Given the description of an element on the screen output the (x, y) to click on. 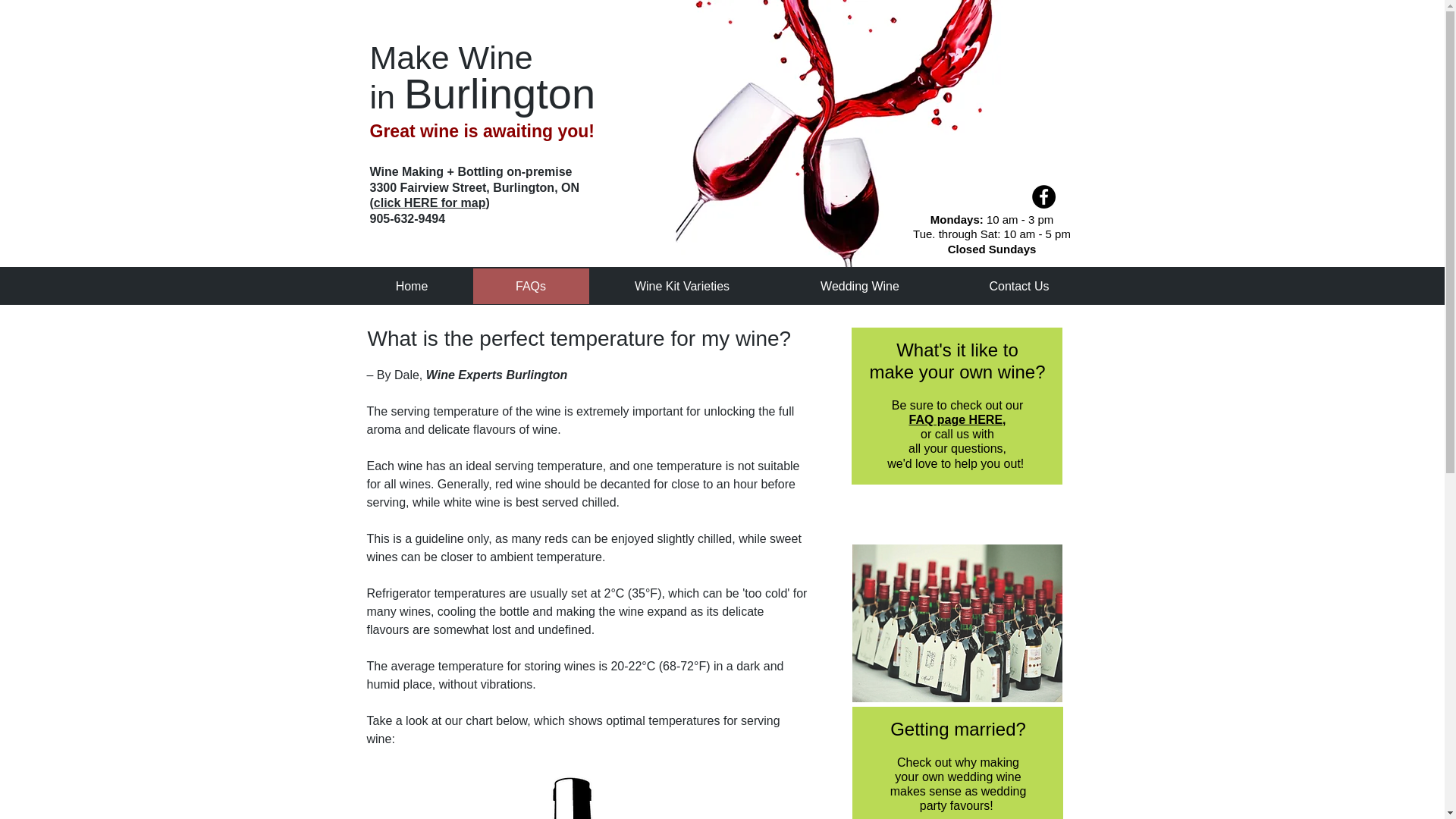
FAQs (531, 285)
Wine Kit Varieties (681, 285)
Home (410, 285)
Wedding Wine (858, 285)
FAQ page HERE, (957, 419)
Contact Us (1019, 285)
click HERE for map (430, 202)
